Given the description of an element on the screen output the (x, y) to click on. 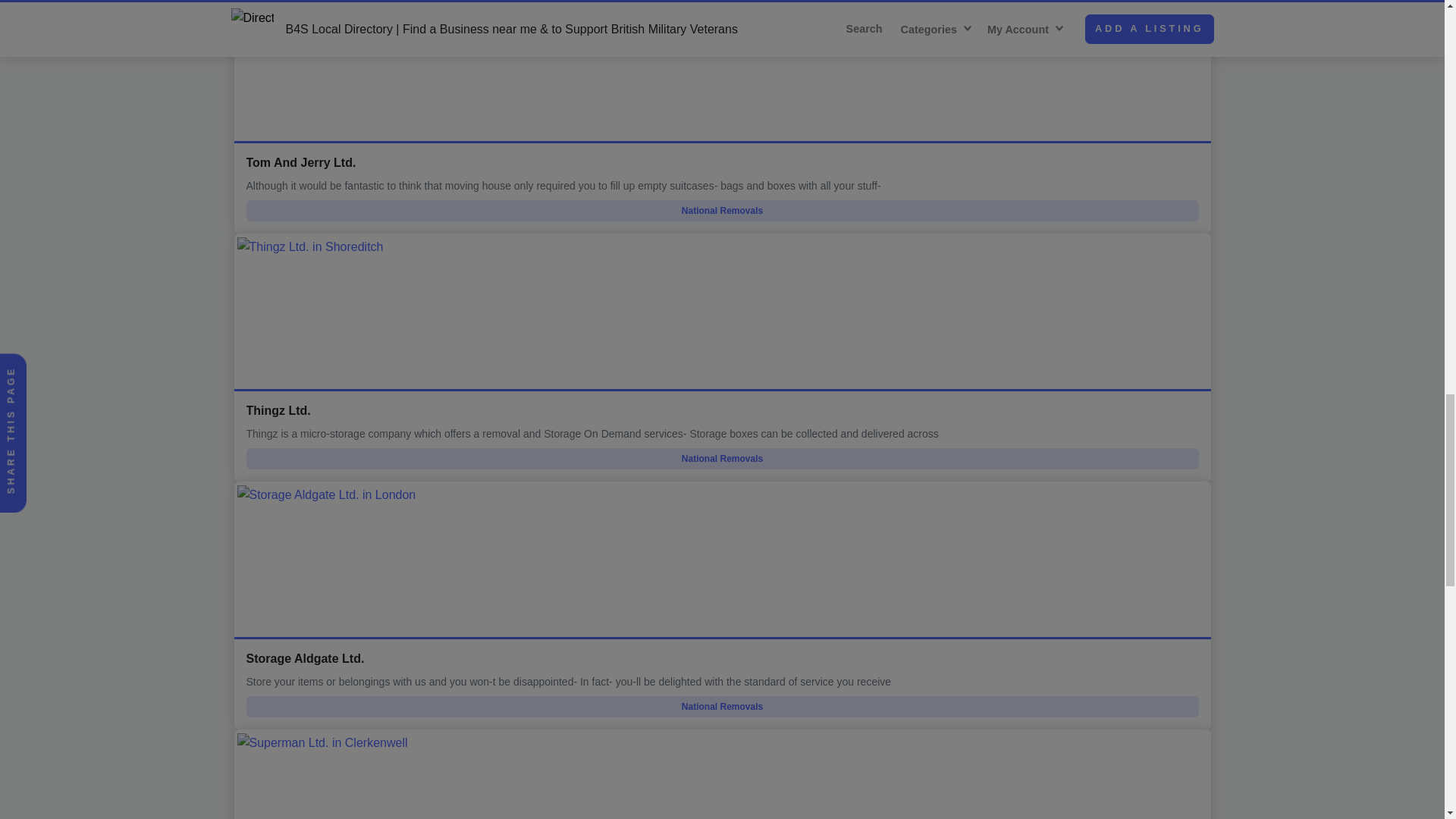
Superman Ltd. in Clerkenwell (720, 774)
